Given the description of an element on the screen output the (x, y) to click on. 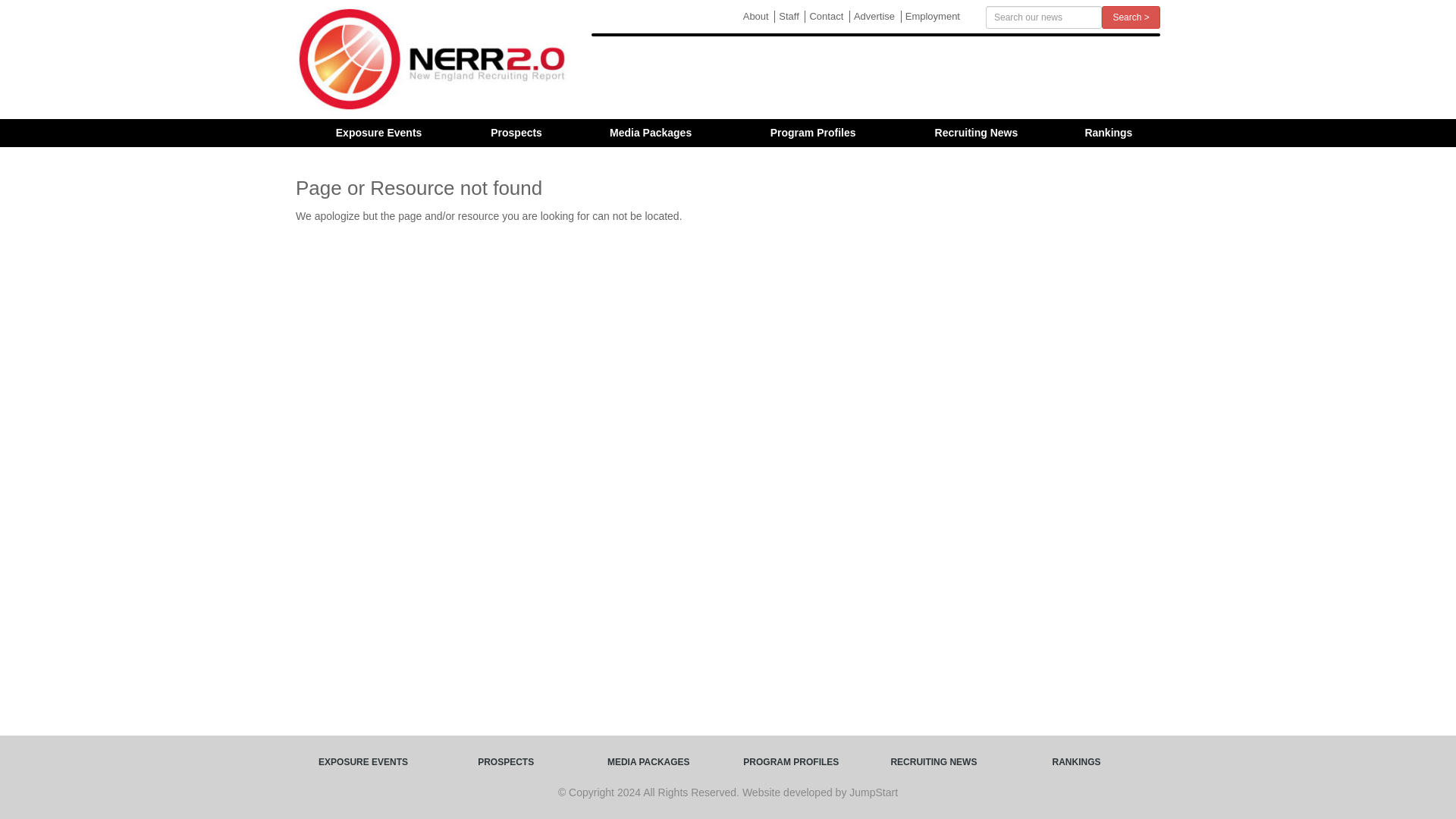
New England Recruiting Report (432, 59)
Recruiting News (976, 132)
About (755, 16)
Employment (931, 16)
Exposure Events (379, 132)
Staff (788, 16)
Prospects (516, 132)
Advertise (874, 16)
Media Packages (650, 132)
Contact (825, 16)
Rankings (1108, 132)
Program Profiles (812, 132)
